Given the description of an element on the screen output the (x, y) to click on. 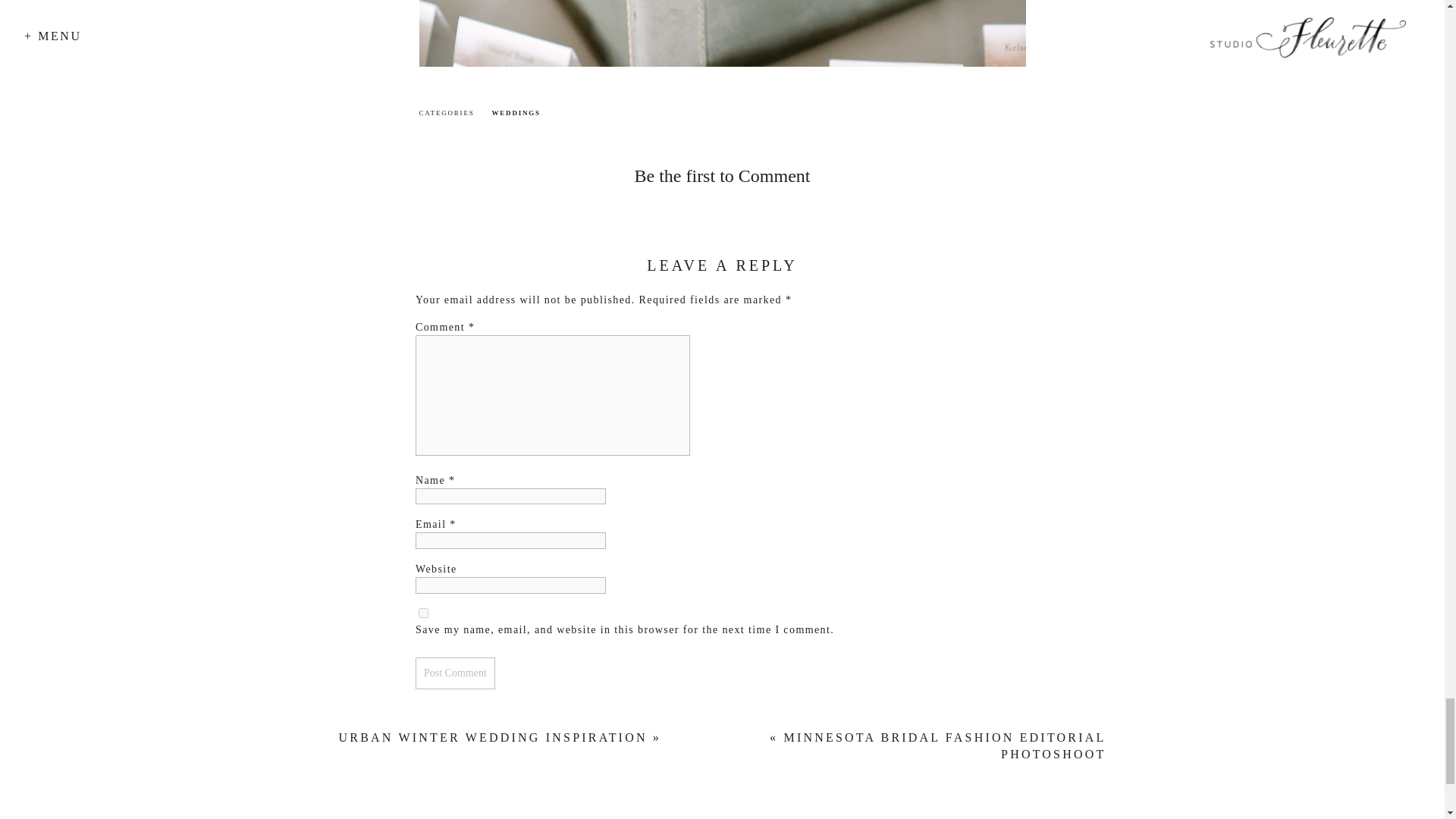
Post Comment (454, 673)
MINNESOTA BRIDAL FASHION EDITORIAL PHOTOSHOOT (944, 745)
Post Comment (454, 673)
Be the first to Comment (721, 175)
URBAN WINTER WEDDING INSPIRATION (493, 737)
yes (423, 613)
WEDDINGS (516, 112)
